Given the description of an element on the screen output the (x, y) to click on. 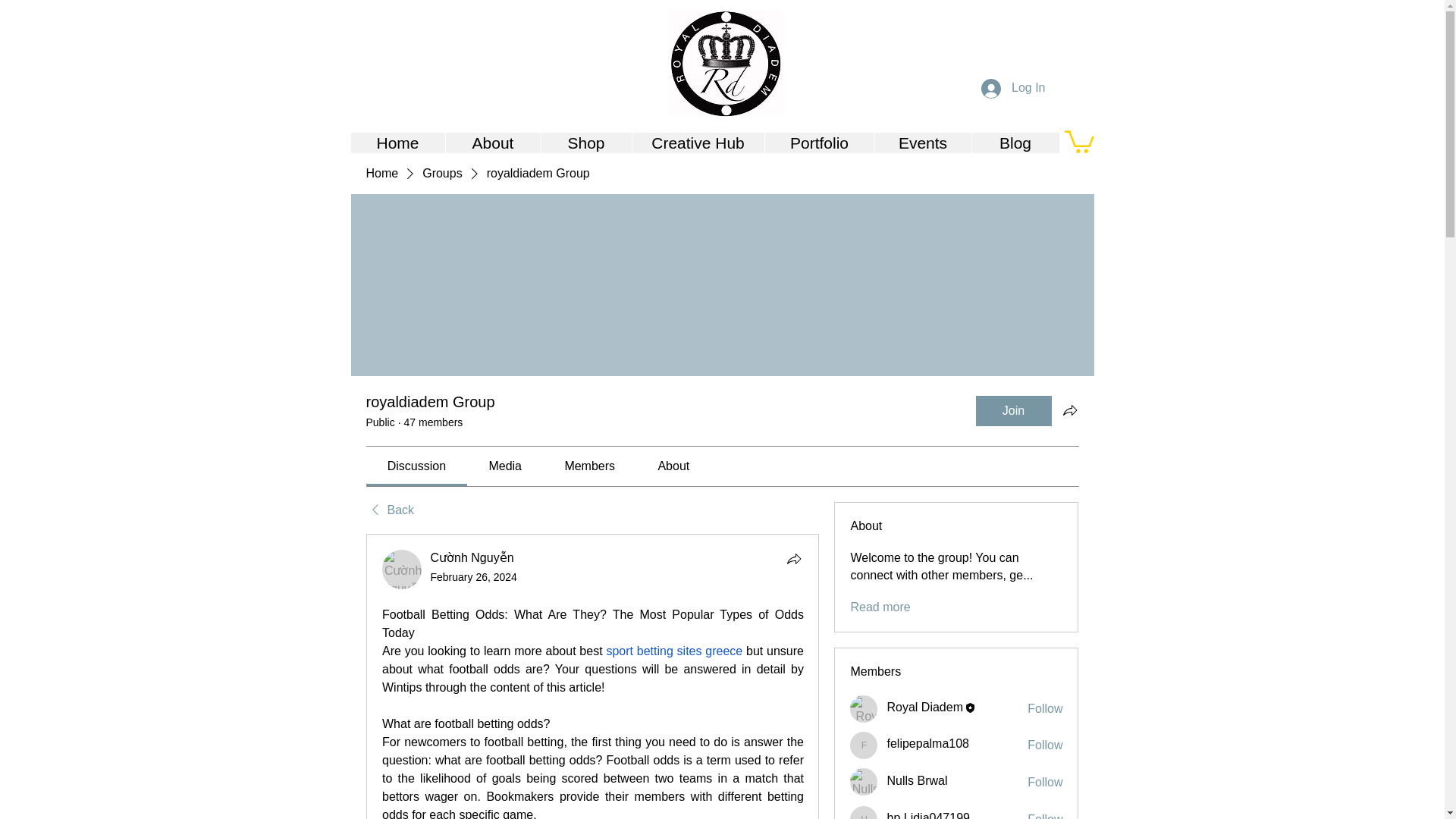
Log In (1013, 88)
Follow (1044, 782)
Portfolio (819, 142)
hp.Lidia047199 (863, 812)
Creative Hub (696, 142)
Join (1013, 410)
Blog (1014, 142)
Follow (1044, 745)
Home (381, 173)
Follow (1044, 815)
Read more (880, 606)
felipepalma108 (863, 745)
Home (397, 142)
Shop (585, 142)
hp.Lidia047199 (927, 815)
